Given the description of an element on the screen output the (x, y) to click on. 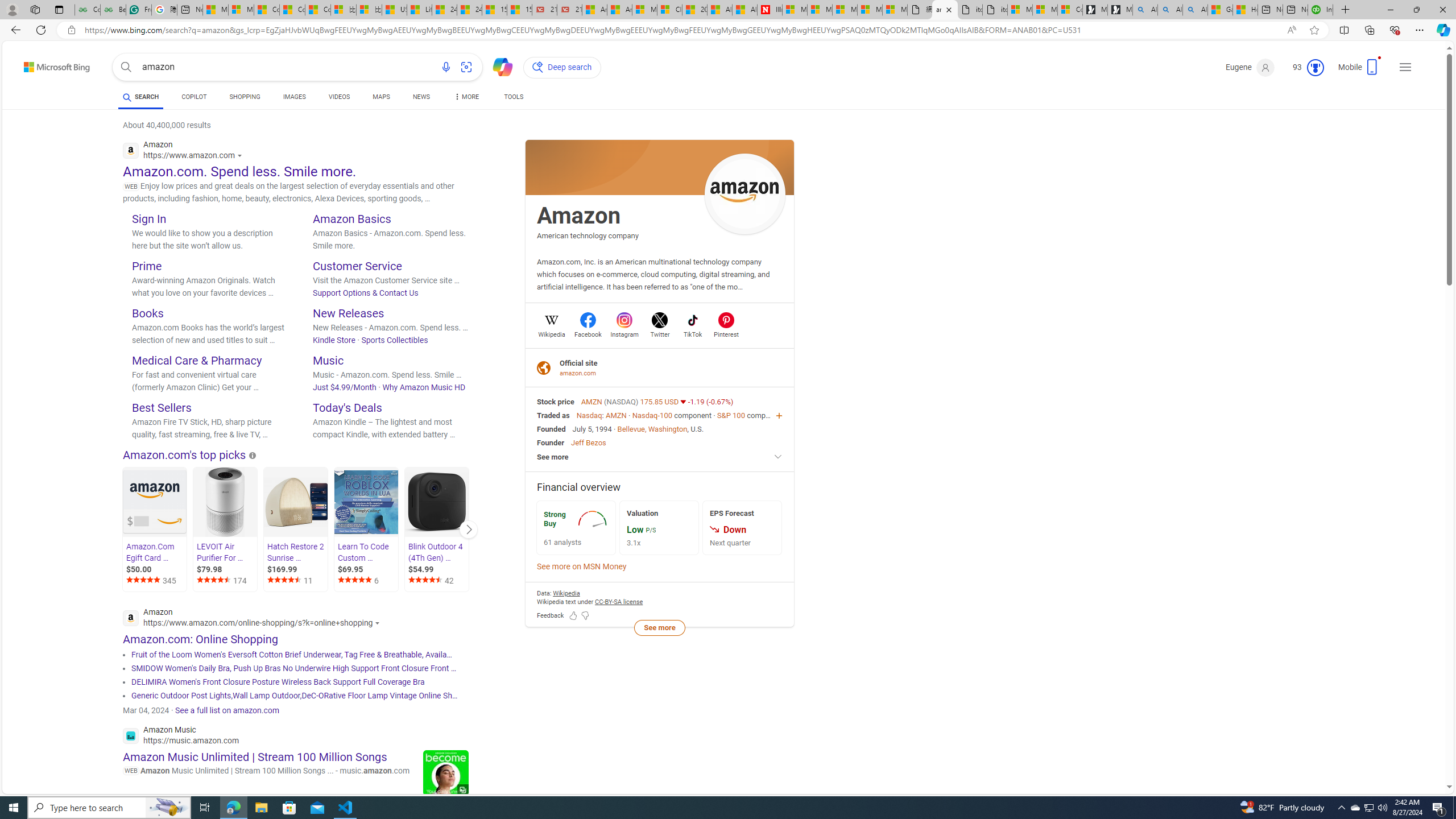
Complete Guide to Arrays Data Structure - GeeksforGeeks (86, 9)
IMAGES (294, 98)
Amazon Music Unlimited | Stream 100 Million Songs (254, 756)
TOOLS (512, 98)
Jeff Bezos (587, 442)
VIDEOS (339, 96)
21 Movies That Outdid the Books They Were Based On (568, 9)
Lifestyle - MSN (418, 9)
